Given the description of an element on the screen output the (x, y) to click on. 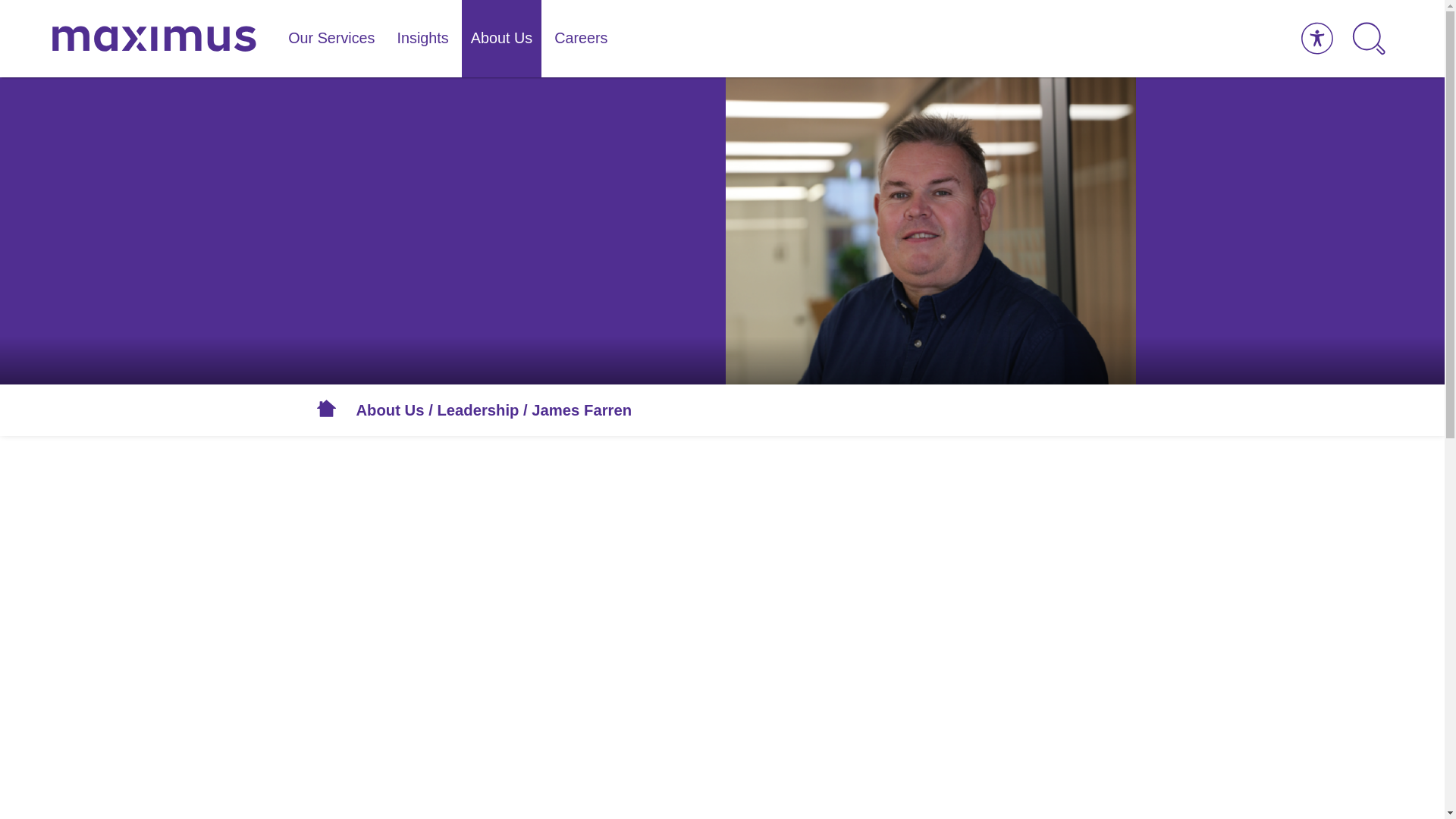
About Us (390, 410)
Our Services (331, 38)
Careers (579, 38)
Leadership (477, 410)
Insights (423, 38)
About Us (501, 38)
